Given the description of an element on the screen output the (x, y) to click on. 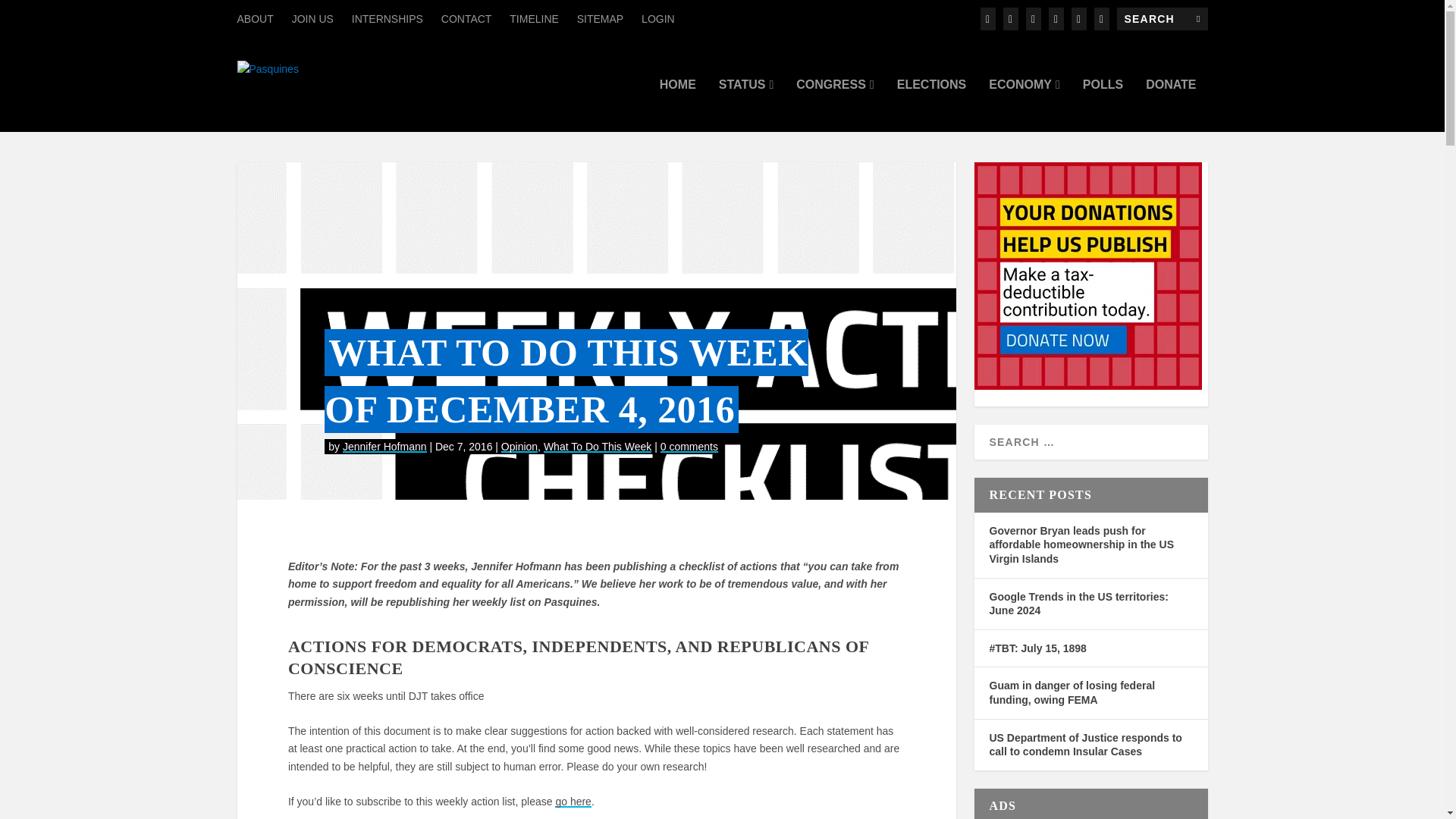
JOIN US (312, 18)
CONTACT (466, 18)
SITEMAP (599, 18)
STATUS (746, 104)
TIMELINE (534, 18)
INTERNSHIPS (387, 18)
Search for: (1161, 18)
ABOUT (254, 18)
CONGRESS (834, 104)
